Given the description of an element on the screen output the (x, y) to click on. 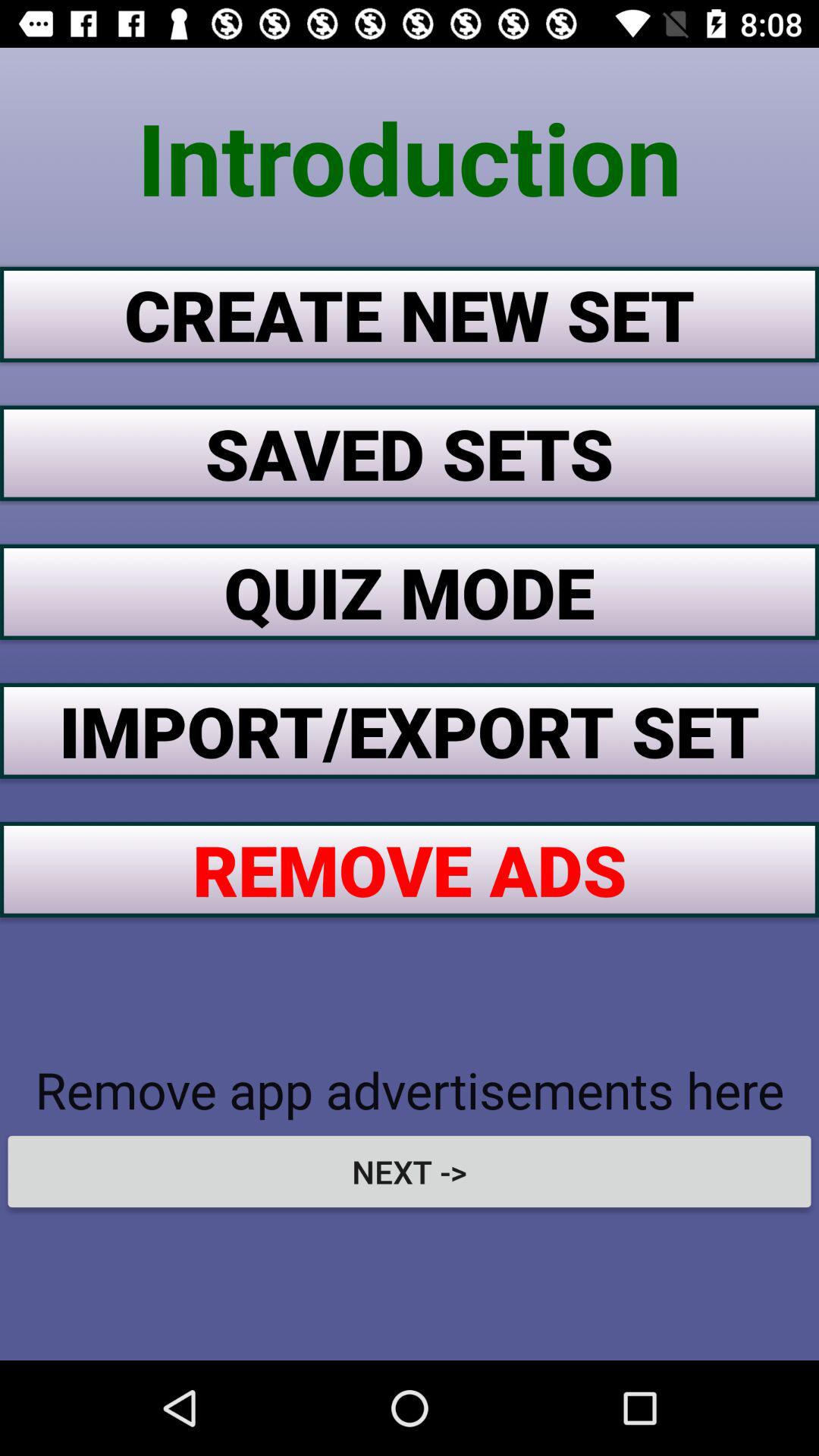
tap the item above the remove ads (409, 730)
